Given the description of an element on the screen output the (x, y) to click on. 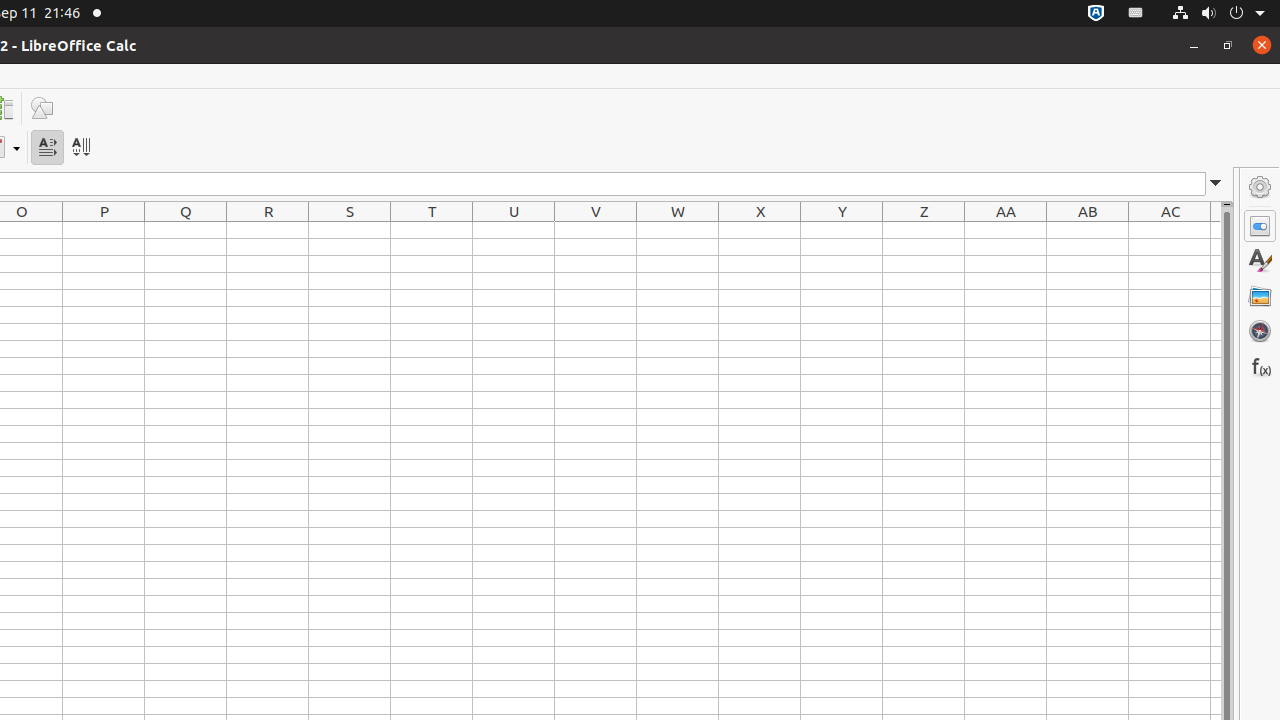
T1 Element type: table-cell (432, 230)
Q1 Element type: table-cell (186, 230)
Text direction from top to bottom Element type: toggle-button (80, 147)
